Given the description of an element on the screen output the (x, y) to click on. 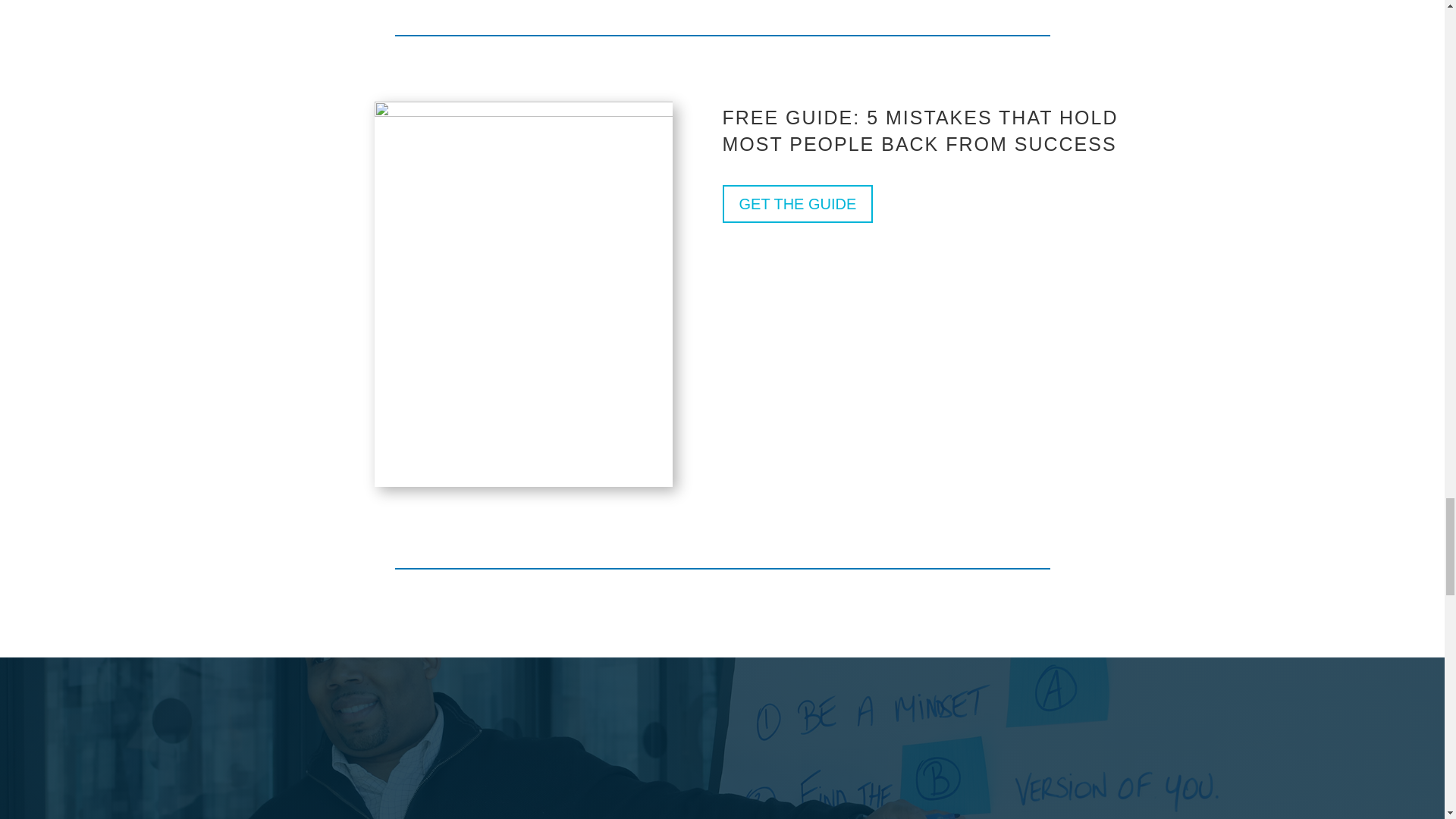
GET THE GUIDE (797, 203)
Streamline Your Success-pdf cover (523, 293)
